Given the description of an element on the screen output the (x, y) to click on. 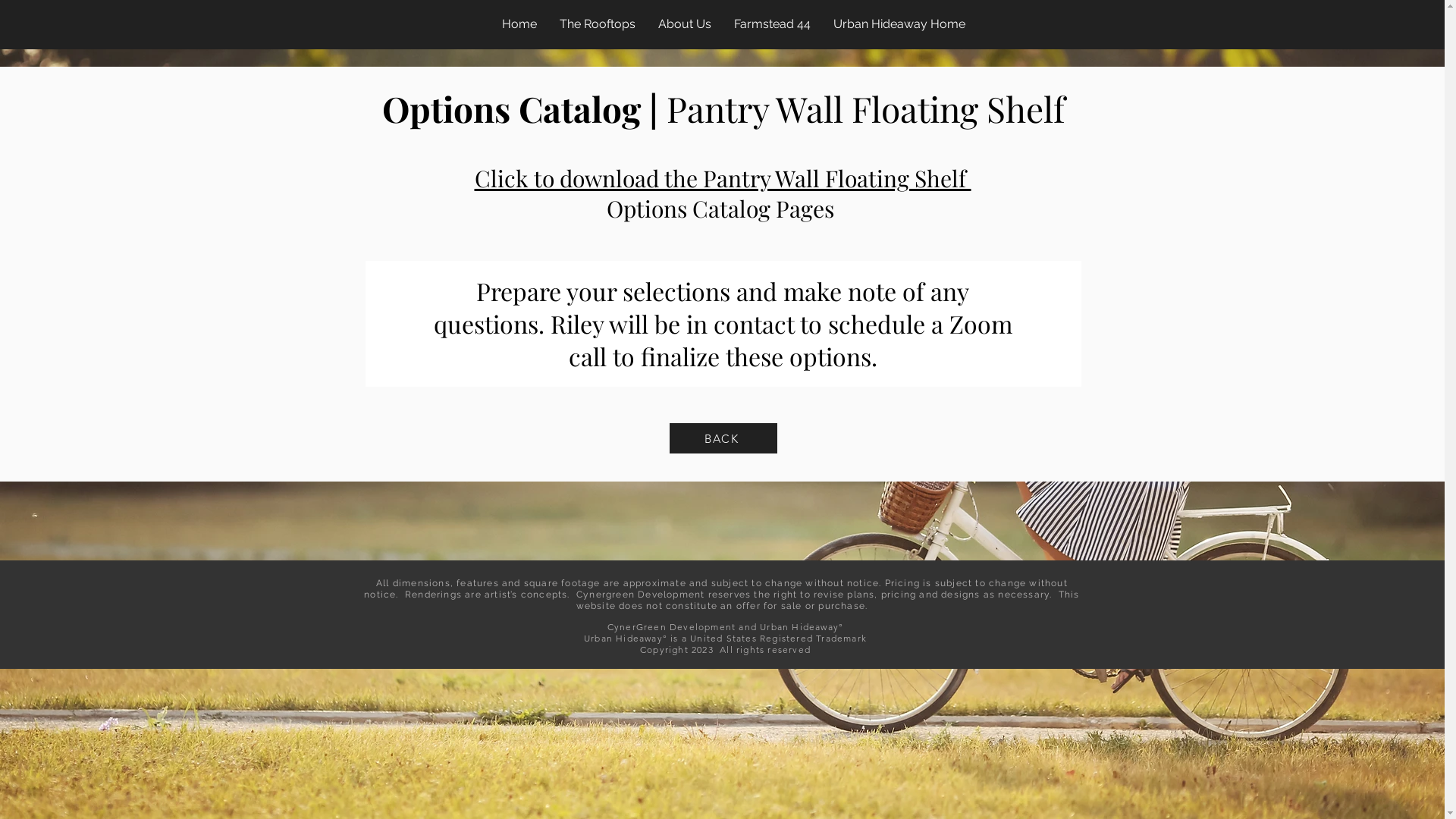
Click to download the Pantry Wall Floating Shelf  Element type: text (722, 178)
Home Element type: text (518, 24)
The Rooftops Element type: text (596, 24)
BACK Element type: text (722, 438)
Urban Hideaway Home Element type: text (899, 24)
Farmstead 44 Element type: text (771, 24)
About Us Element type: text (683, 24)
